Given the description of an element on the screen output the (x, y) to click on. 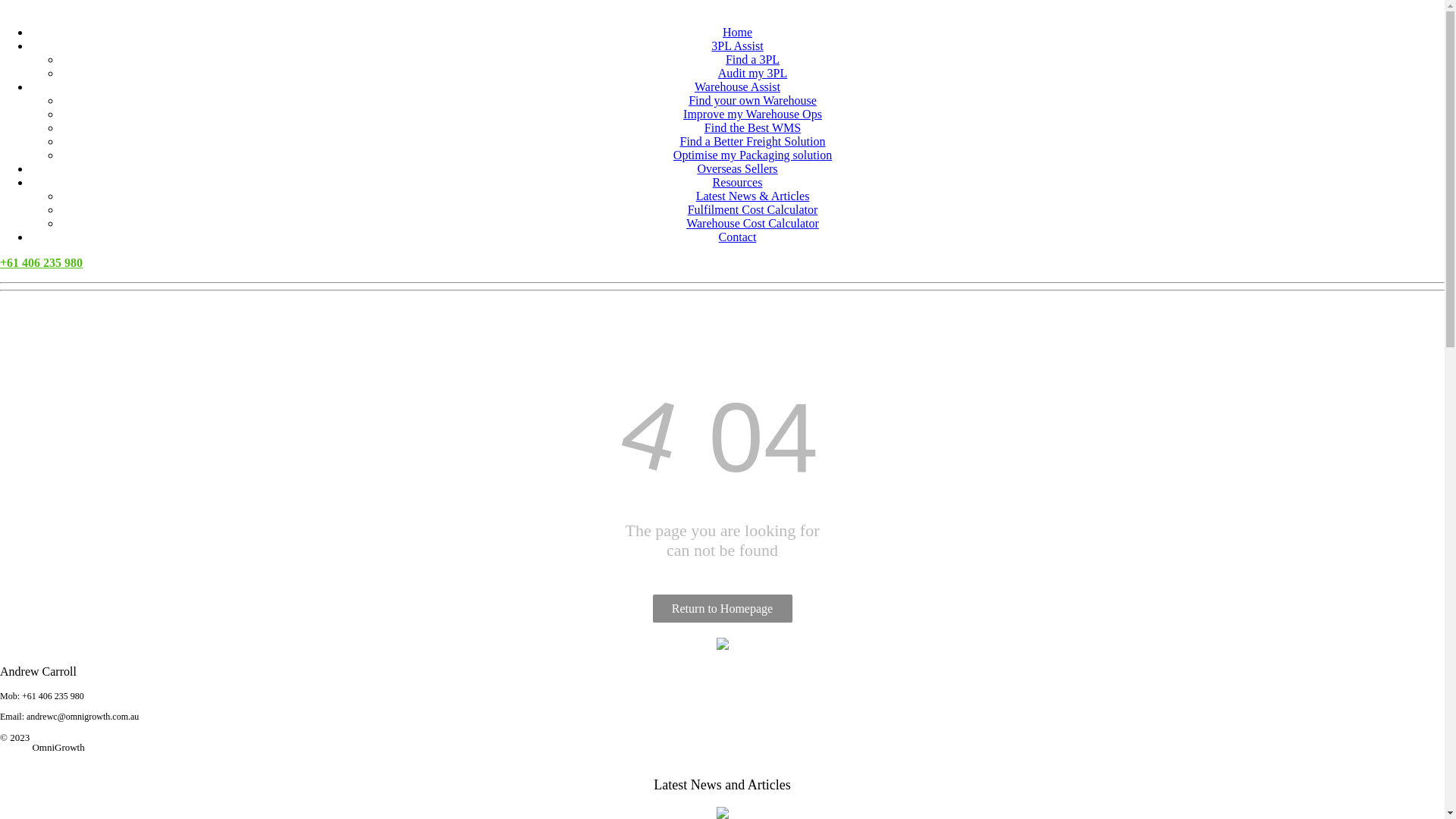
Return to Homepage Element type: text (721, 608)
Optimise my Packaging solution Element type: text (752, 154)
Warehouse Assist Element type: text (737, 86)
Resources Element type: text (737, 181)
3PL Assist Element type: text (736, 45)
Fulfilment Cost Calculator Element type: text (752, 209)
Home Element type: text (737, 31)
Find a Better Freight Solution Element type: text (752, 140)
Contact Element type: text (737, 236)
Find your own Warehouse Element type: text (752, 100)
Improve my Warehouse Ops Element type: text (752, 113)
Latest News & Articles Element type: text (752, 195)
+61 406 235 980 Element type: text (41, 262)
Warehouse Cost Calculator Element type: text (752, 222)
Audit my 3PL Element type: text (752, 72)
Find the Best WMS Element type: text (752, 127)
Overseas Sellers Element type: text (736, 168)
Find a 3PL Element type: text (752, 59)
